Given the description of an element on the screen output the (x, y) to click on. 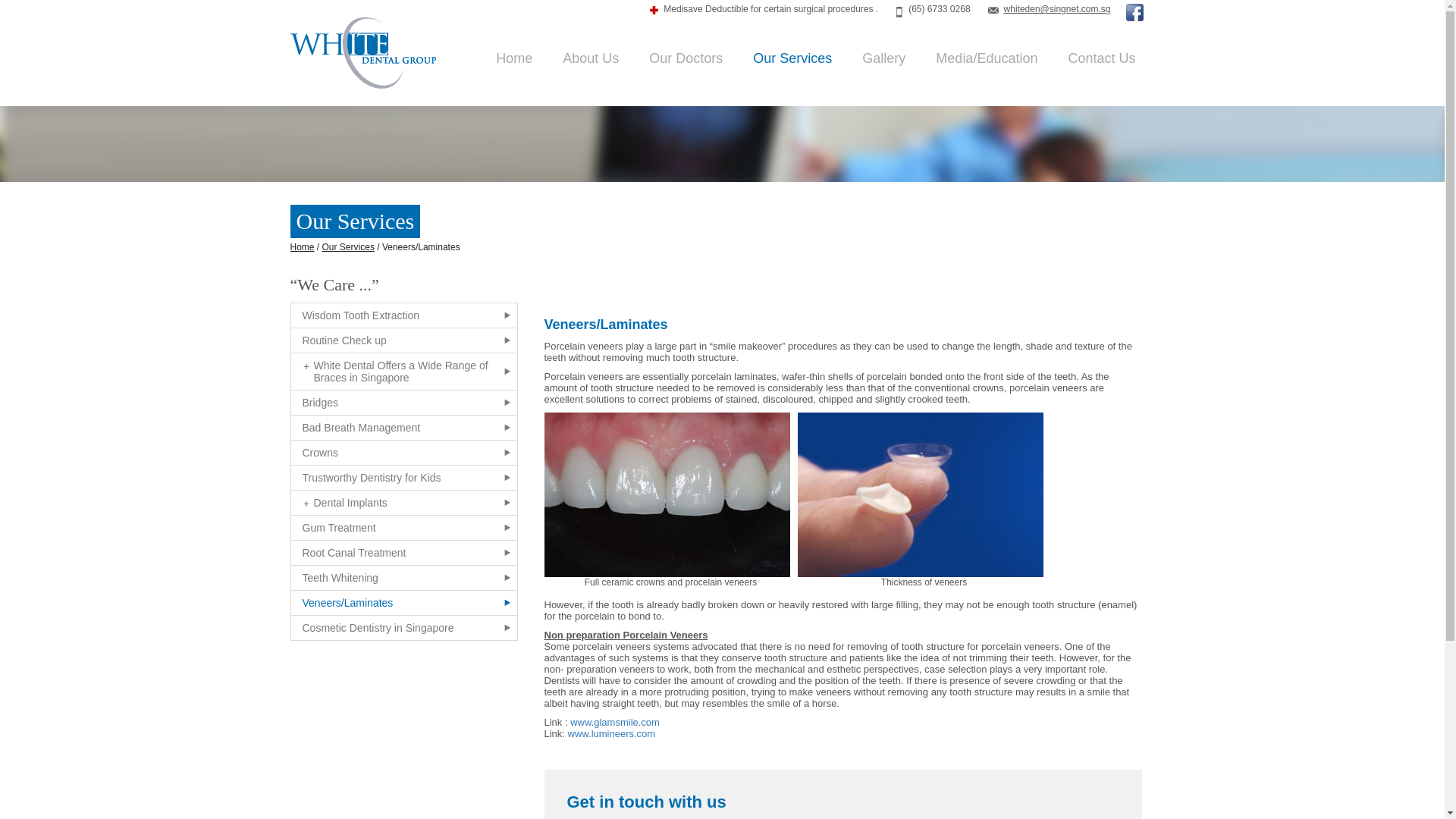
Gallery (876, 58)
Go to White Dental Group. (301, 246)
Home (506, 58)
Go to Our Services. (347, 246)
About Us (583, 58)
Bad Breath Management (403, 427)
Home (301, 246)
Contact Us (1093, 58)
Our Services (347, 246)
Cosmetic Dentistry in Singapore (403, 627)
Bridges (403, 402)
Routine Check up (403, 340)
Our Doctors (678, 58)
White Dental Offers a Wide Range of Braces in Singapore (403, 370)
Teeth Whitening (403, 577)
